Given the description of an element on the screen output the (x, y) to click on. 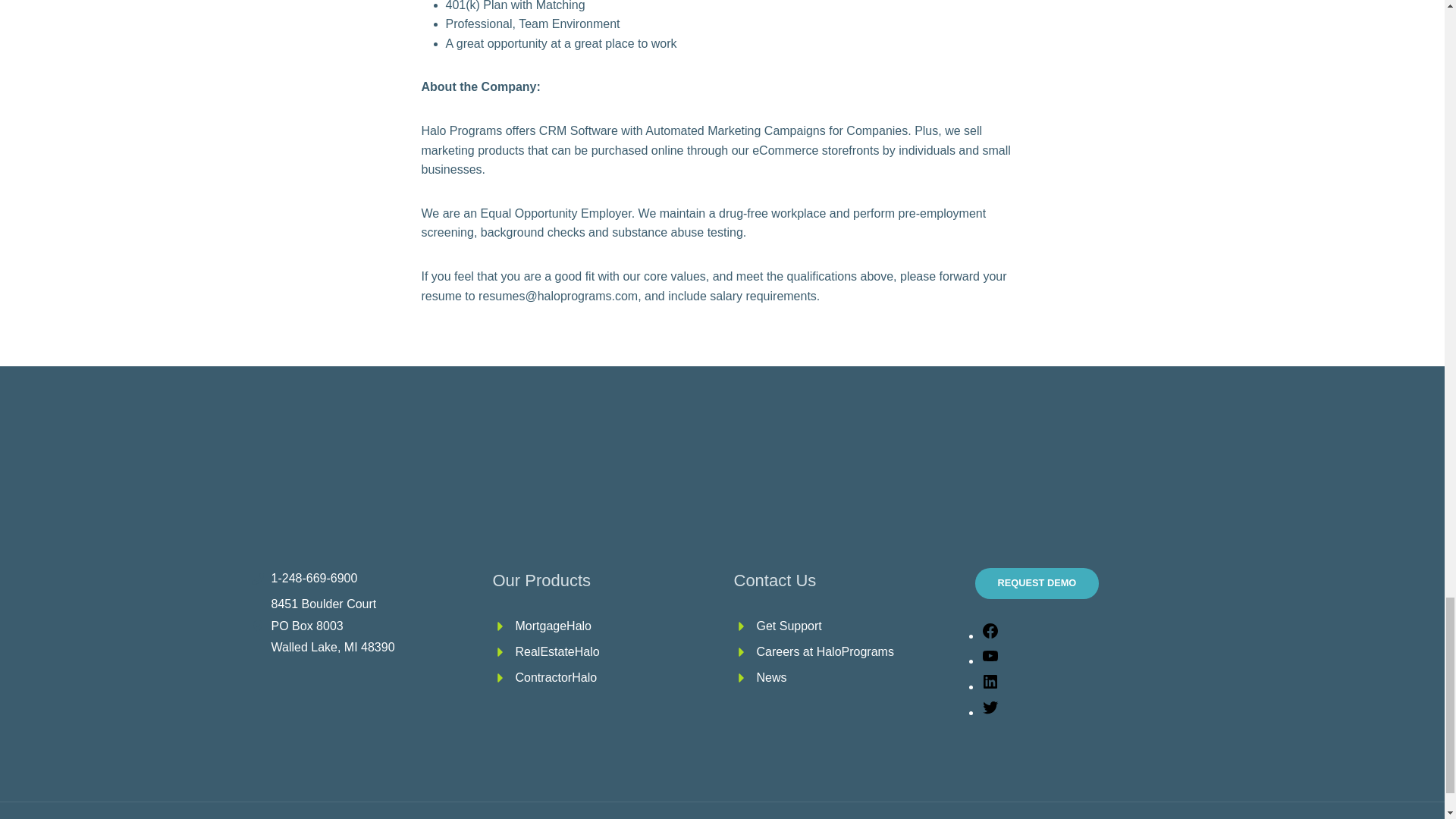
Careers at HaloPrograms (825, 651)
Facebook (989, 635)
YouTube (989, 660)
1-248-669-6900 (314, 577)
Twitter (989, 712)
MortgageHalo (553, 625)
News (772, 676)
REQUEST DEMO (1037, 583)
RealEstateHalo (557, 651)
LinkedIn (989, 686)
